Given the description of an element on the screen output the (x, y) to click on. 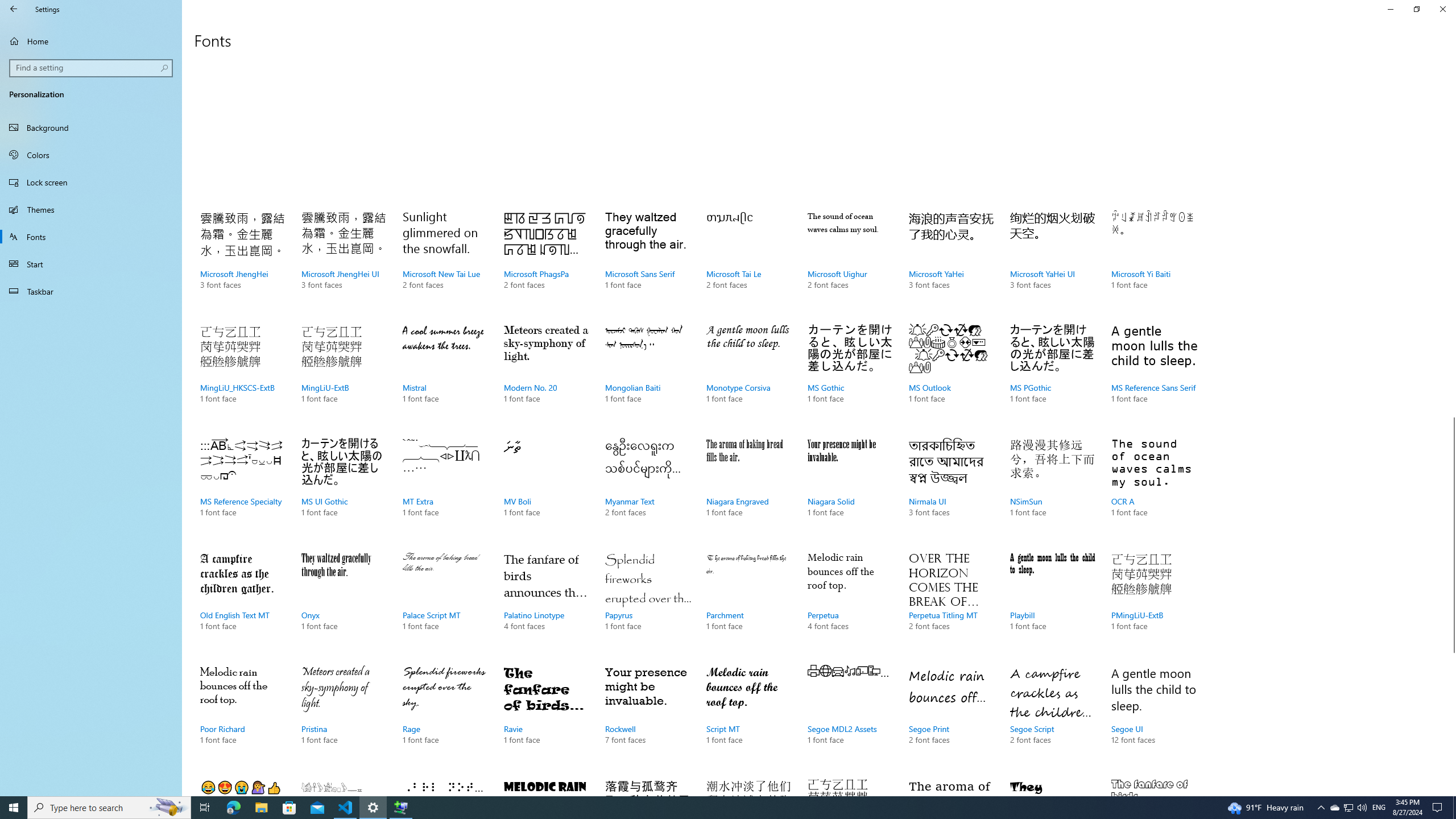
Segoe UI Historic, 1 font face (343, 784)
Microsoft Yi Baiti, 1 font face (1153, 261)
Microsoft YaHei UI, 3 font faces (1052, 261)
Segoe Script, 2 font faces (1052, 716)
Rage, 1 font face (445, 716)
Sitka, 24 font faces (951, 784)
PMingLiU-ExtB, 1 font face (1153, 603)
Segoe UI Symbol, 1 font face (445, 784)
Segoe UI, 12 font faces (1153, 716)
Lock screen (91, 181)
